Given the description of an element on the screen output the (x, y) to click on. 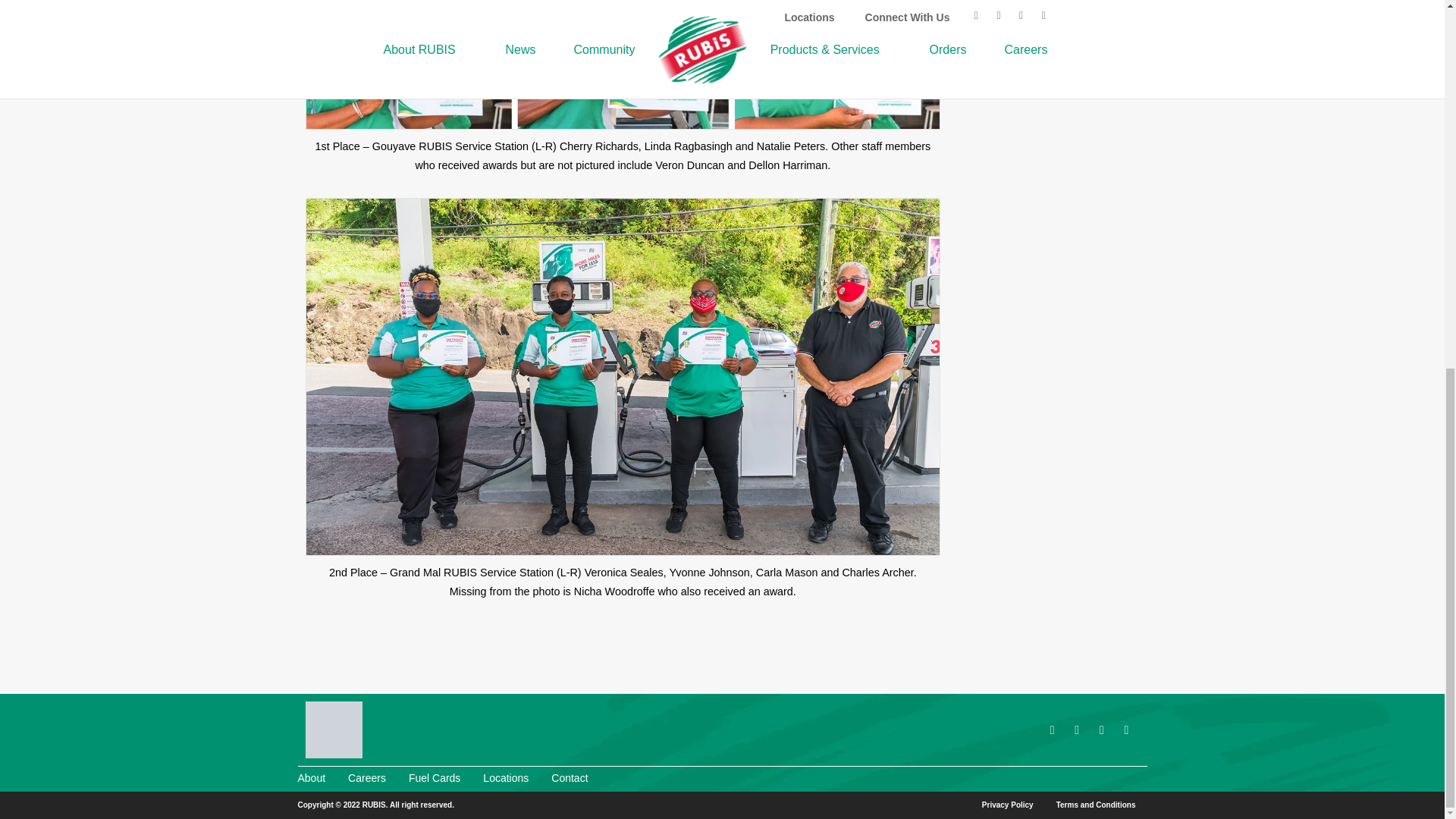
RUBIS LOGO-WHITE-02 (332, 729)
